Given the description of an element on the screen output the (x, y) to click on. 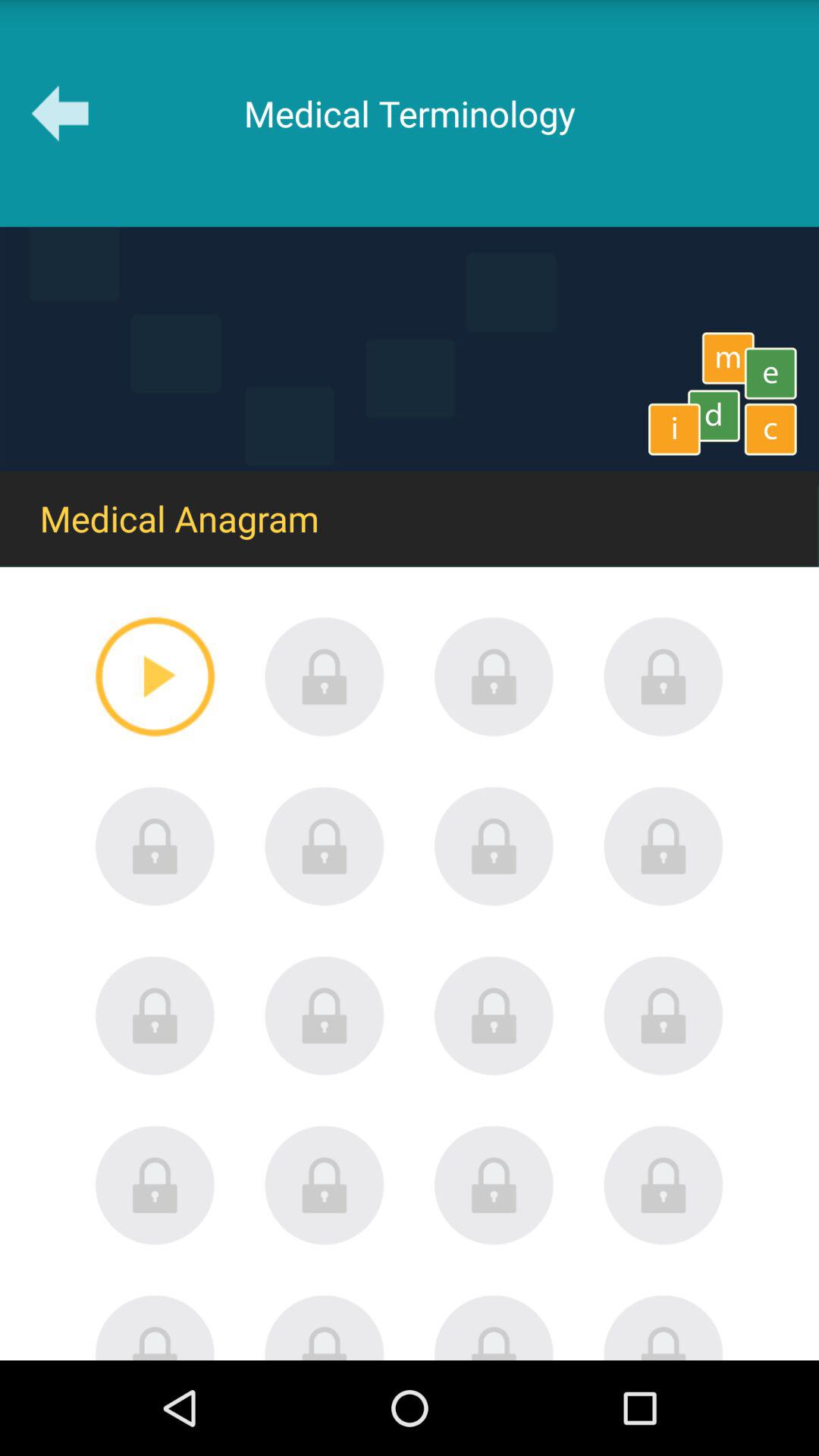
open file (154, 1184)
